Given the description of an element on the screen output the (x, y) to click on. 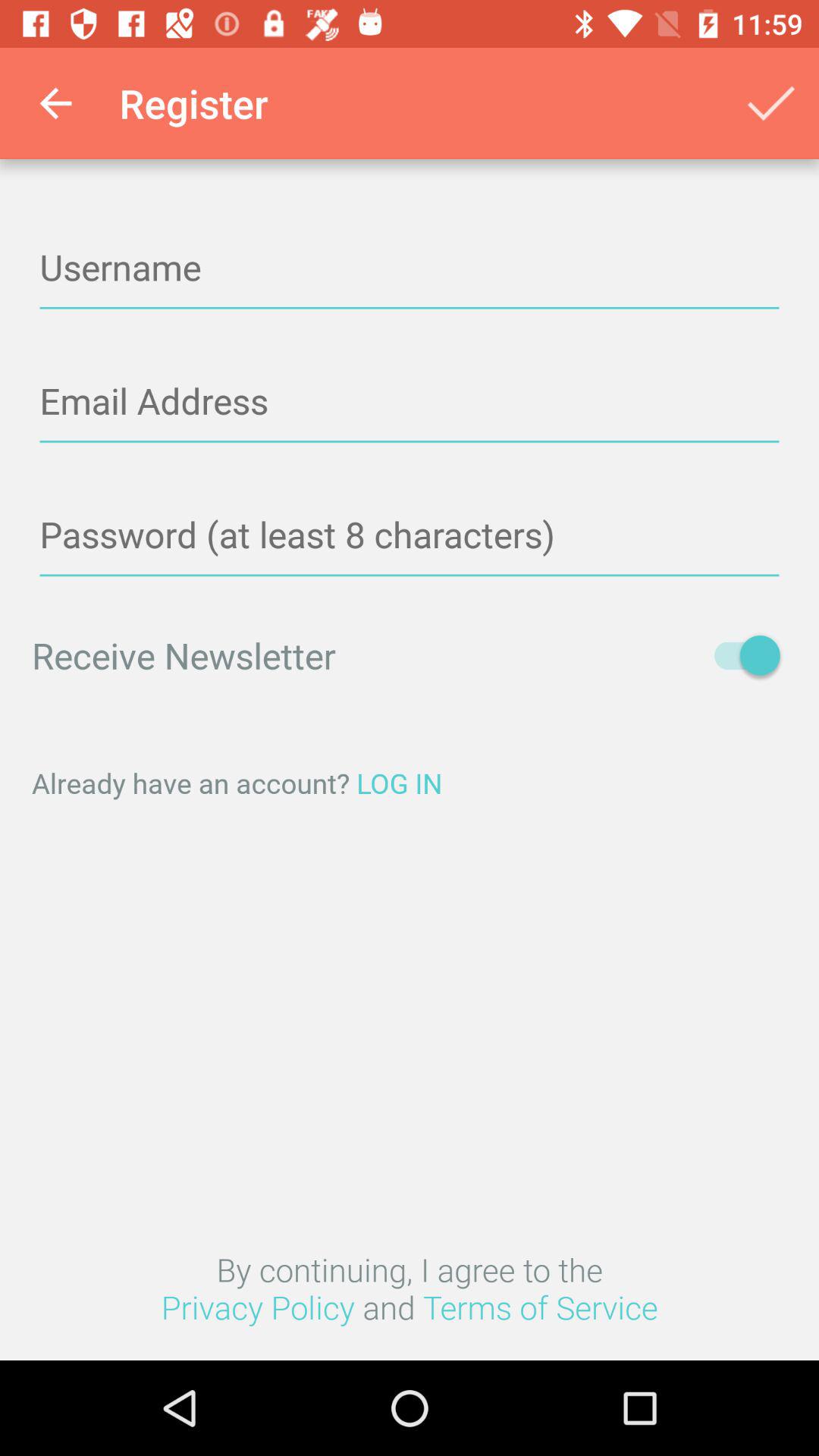
launch the already have an (409, 782)
